Given the description of an element on the screen output the (x, y) to click on. 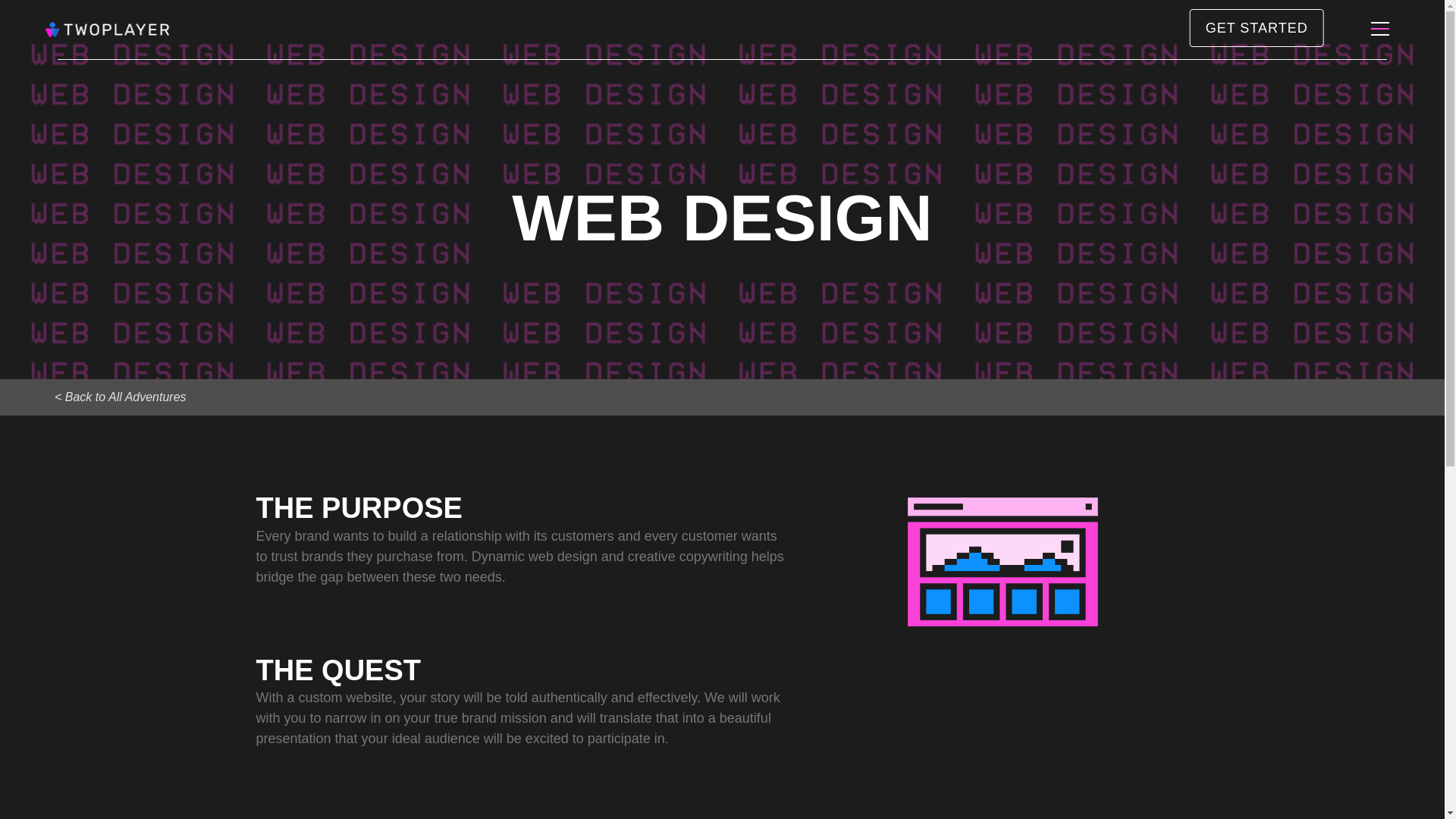
GET STARTED (1256, 27)
